Given the description of an element on the screen output the (x, y) to click on. 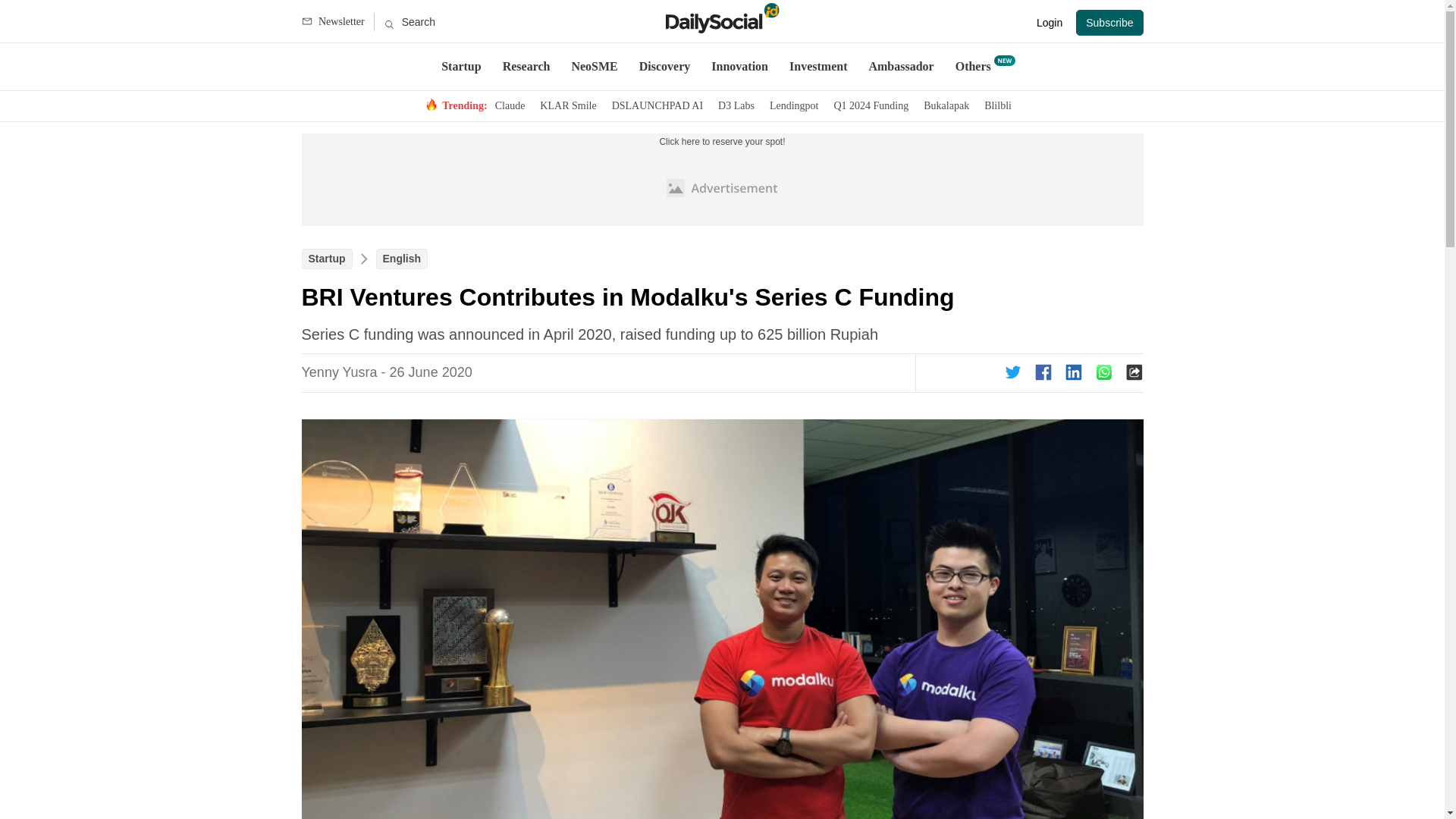
Share this article (1103, 371)
Share this article (1013, 371)
Share this article (1073, 371)
Share this article (1042, 371)
Newsletter (337, 22)
